Given the description of an element on the screen output the (x, y) to click on. 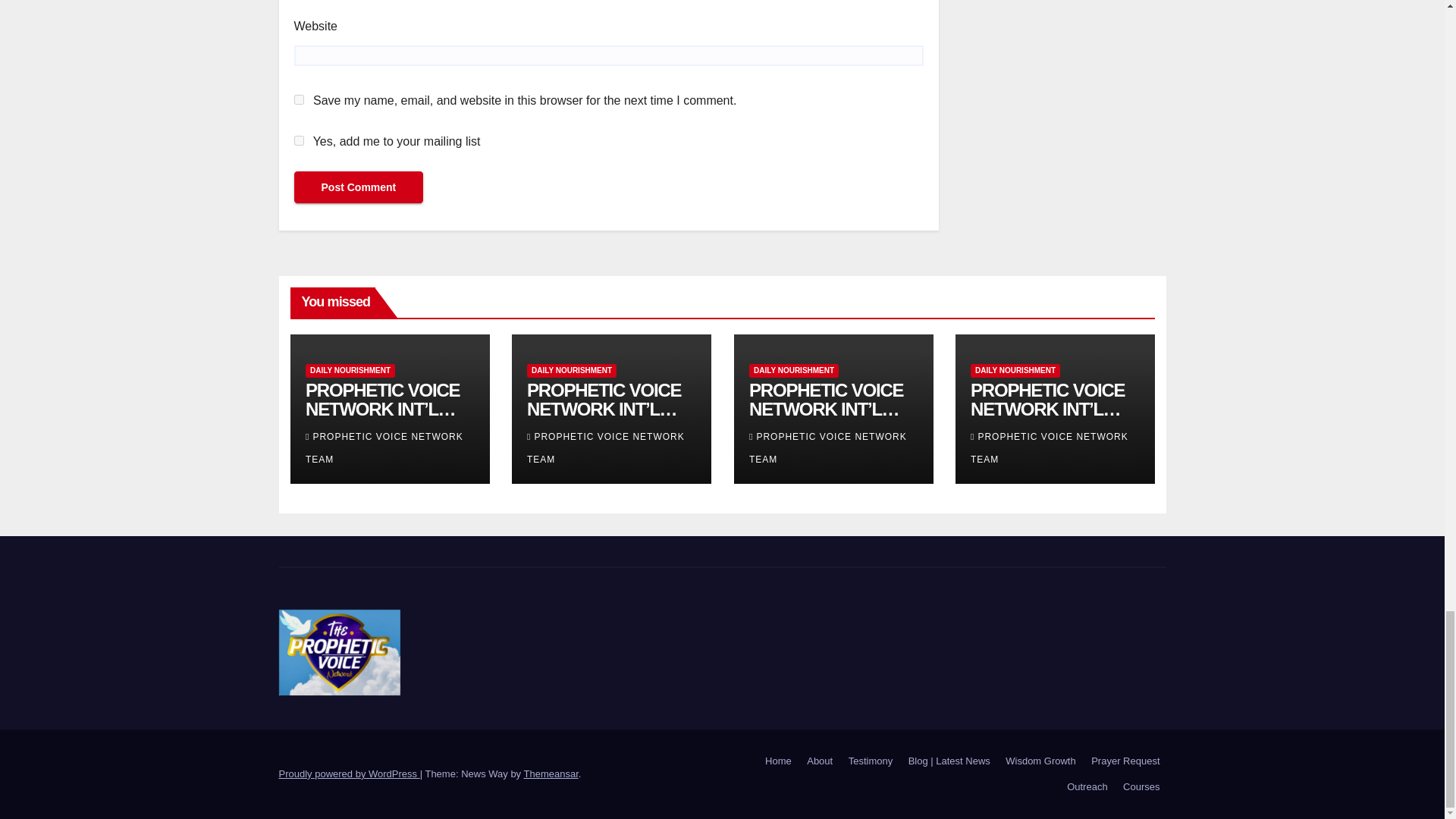
1 (299, 140)
yes (299, 99)
Post Comment (358, 187)
